Given the description of an element on the screen output the (x, y) to click on. 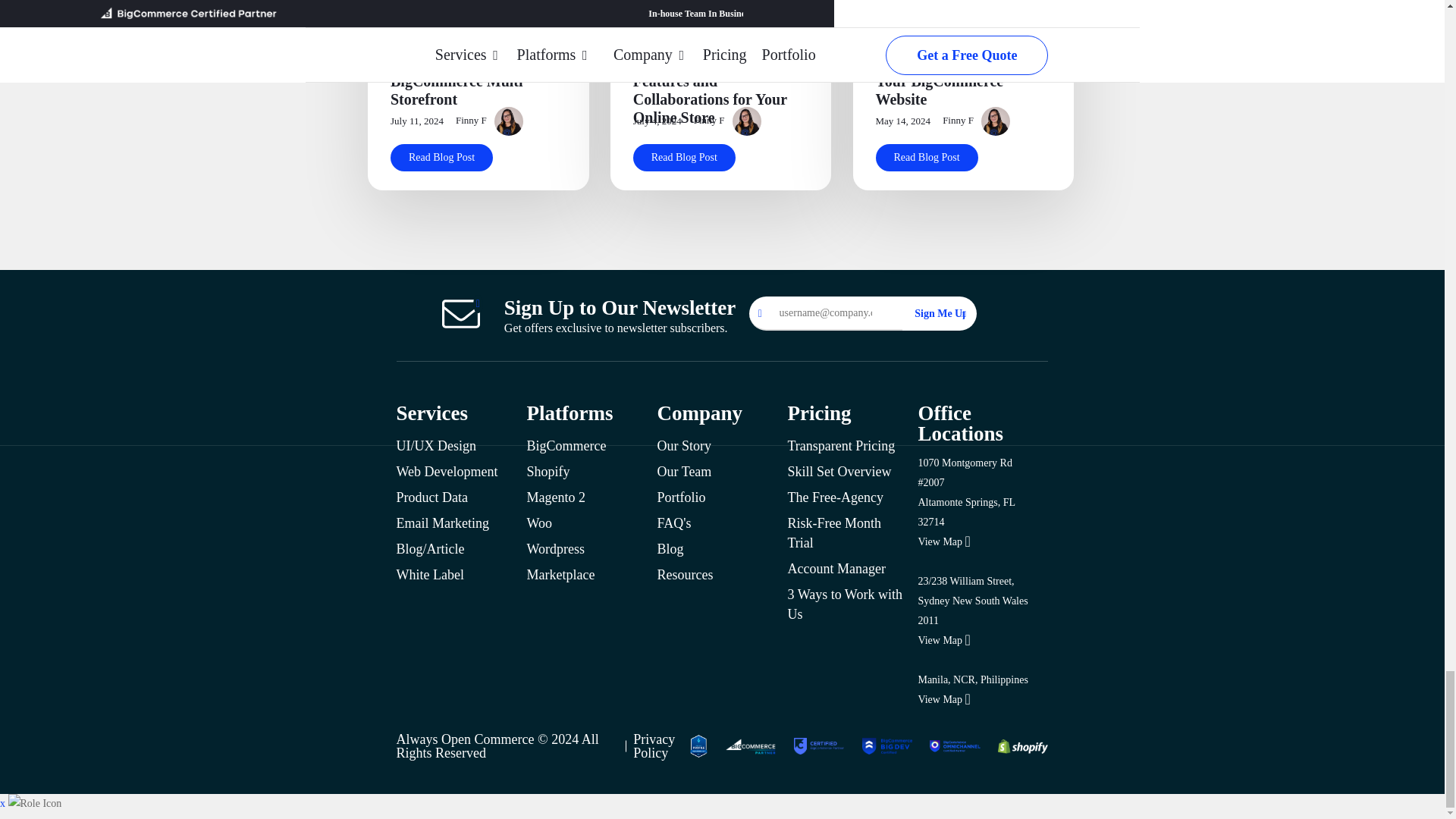
Sign Me Up (933, 313)
